Given the description of an element on the screen output the (x, y) to click on. 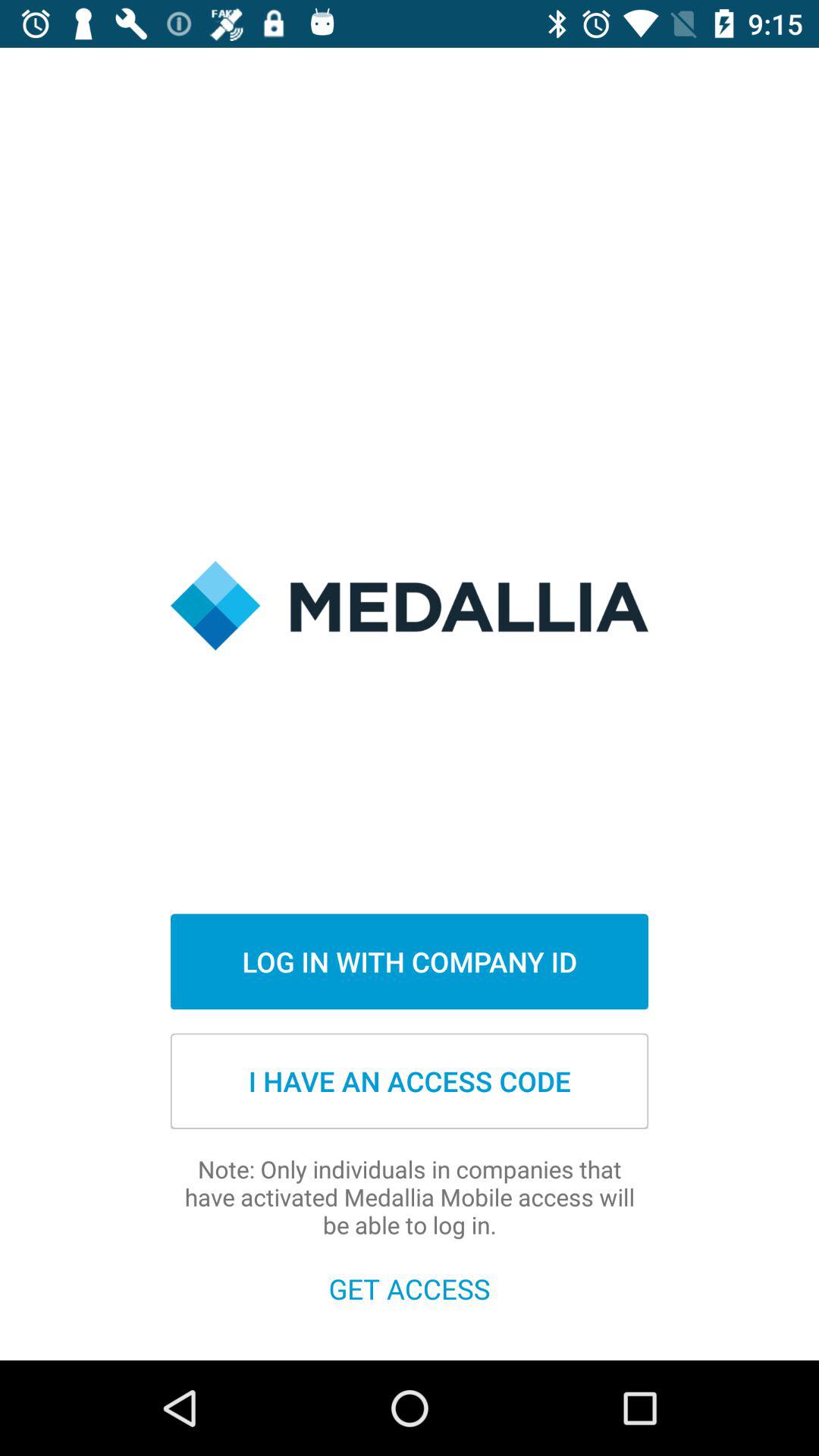
open the get access icon (409, 1288)
